Given the description of an element on the screen output the (x, y) to click on. 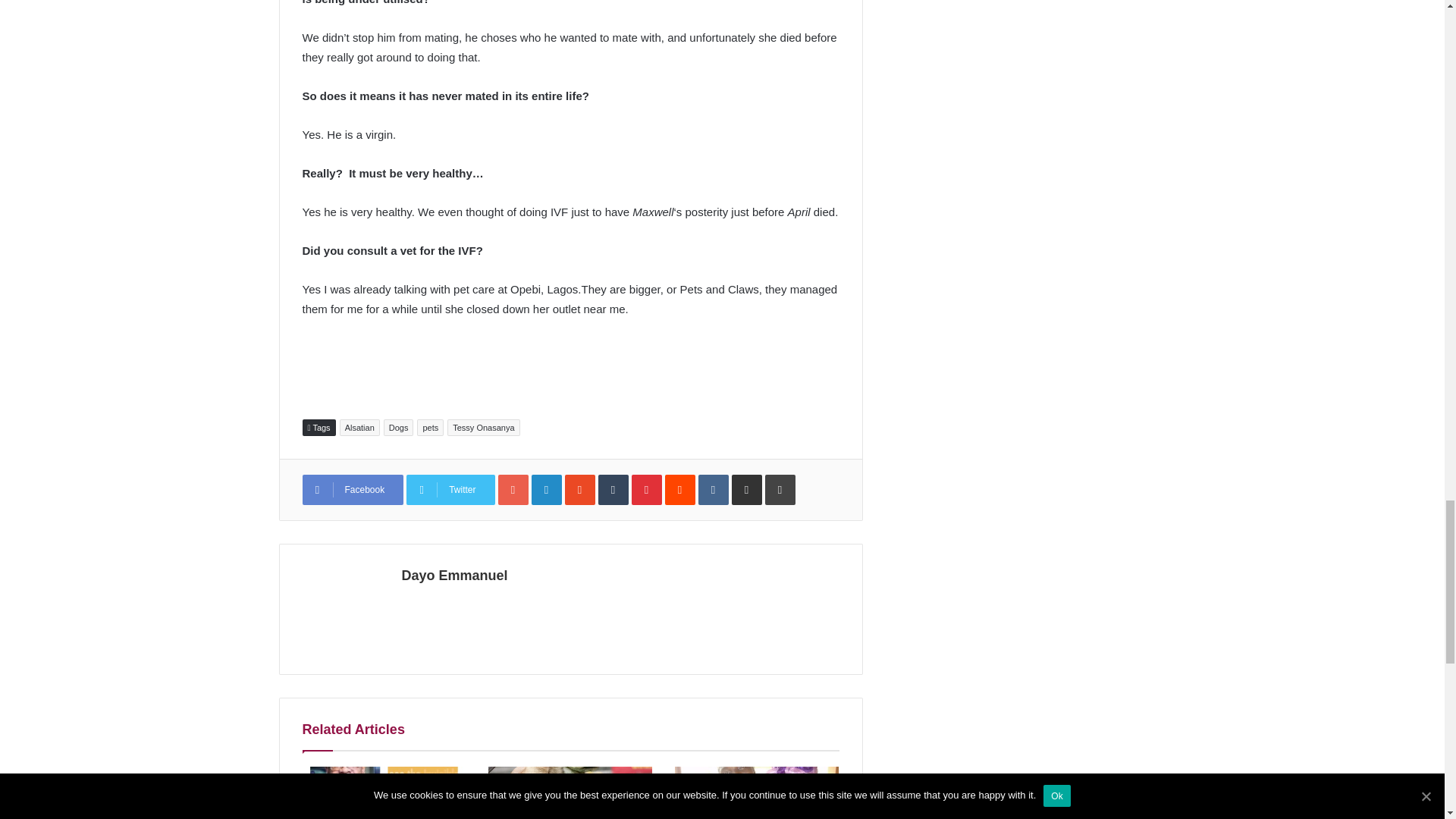
Dogs (398, 427)
Alsatian (359, 427)
pets (430, 427)
Facebook (352, 490)
StumbleUpon (579, 490)
Ten things you may not know about the Boerboel (569, 792)
Reddit (680, 490)
LinkedIn (546, 490)
Pet keeping, indication of good economy (756, 792)
Tessy Onasanya (482, 427)
VKontakte (713, 490)
Dayo Emmanuel (454, 575)
Twitter (450, 490)
Tumblr (613, 490)
